Given the description of an element on the screen output the (x, y) to click on. 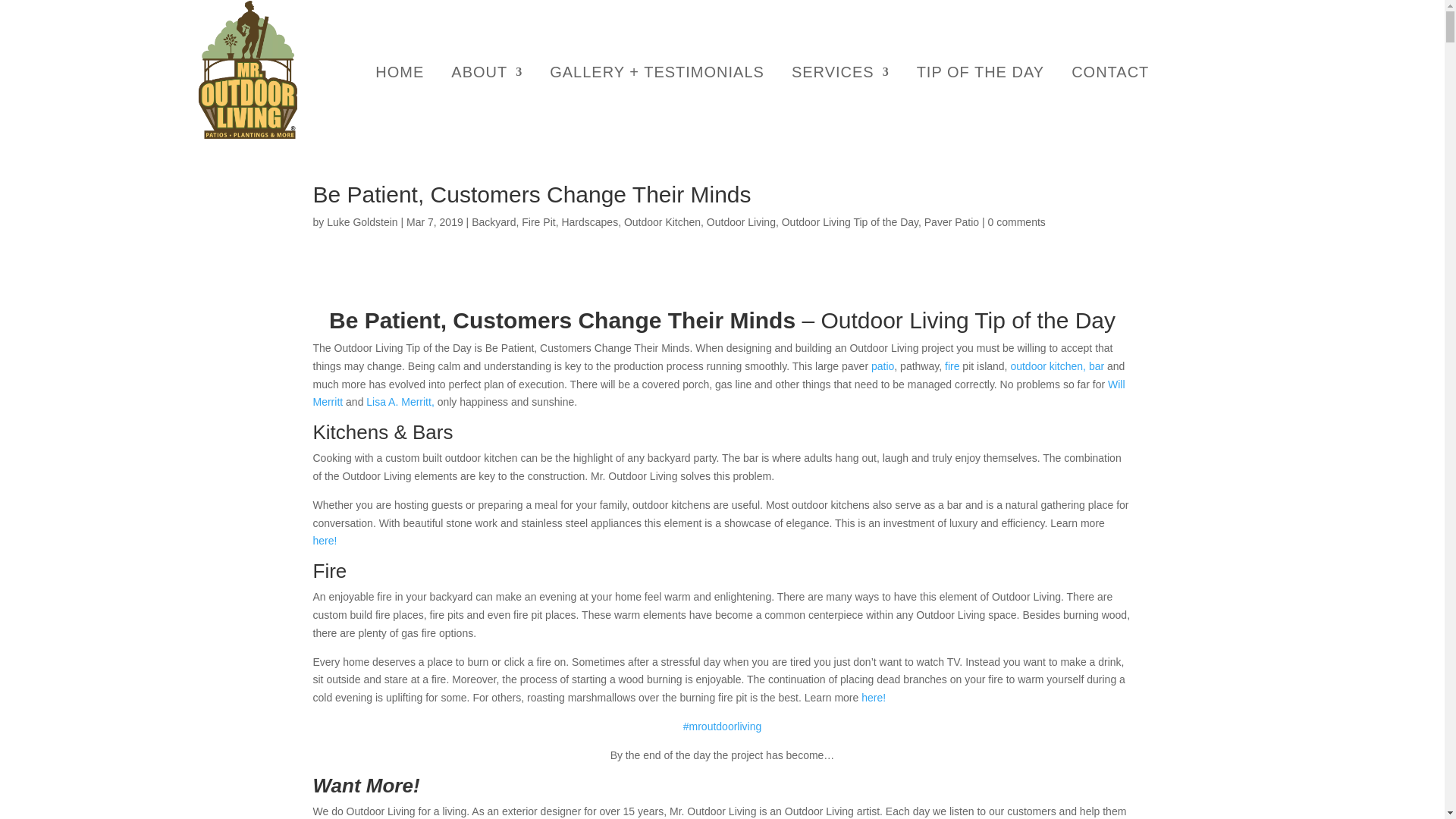
Posts by Luke Goldstein (361, 222)
